Given the description of an element on the screen output the (x, y) to click on. 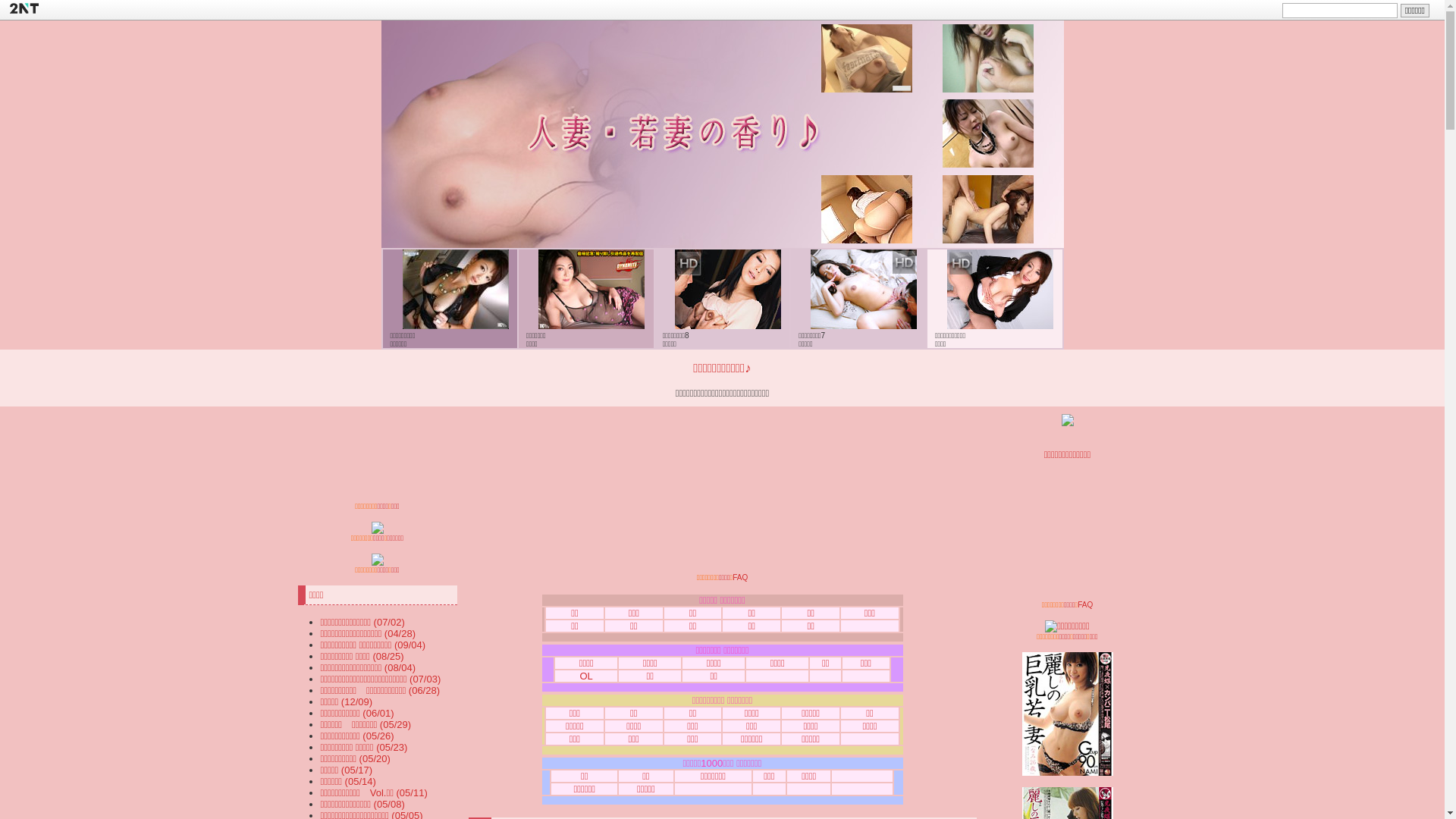
OL Element type: text (585, 675)
FAQ Element type: text (739, 577)
FAQ Element type: text (1084, 604)
